Given the description of an element on the screen output the (x, y) to click on. 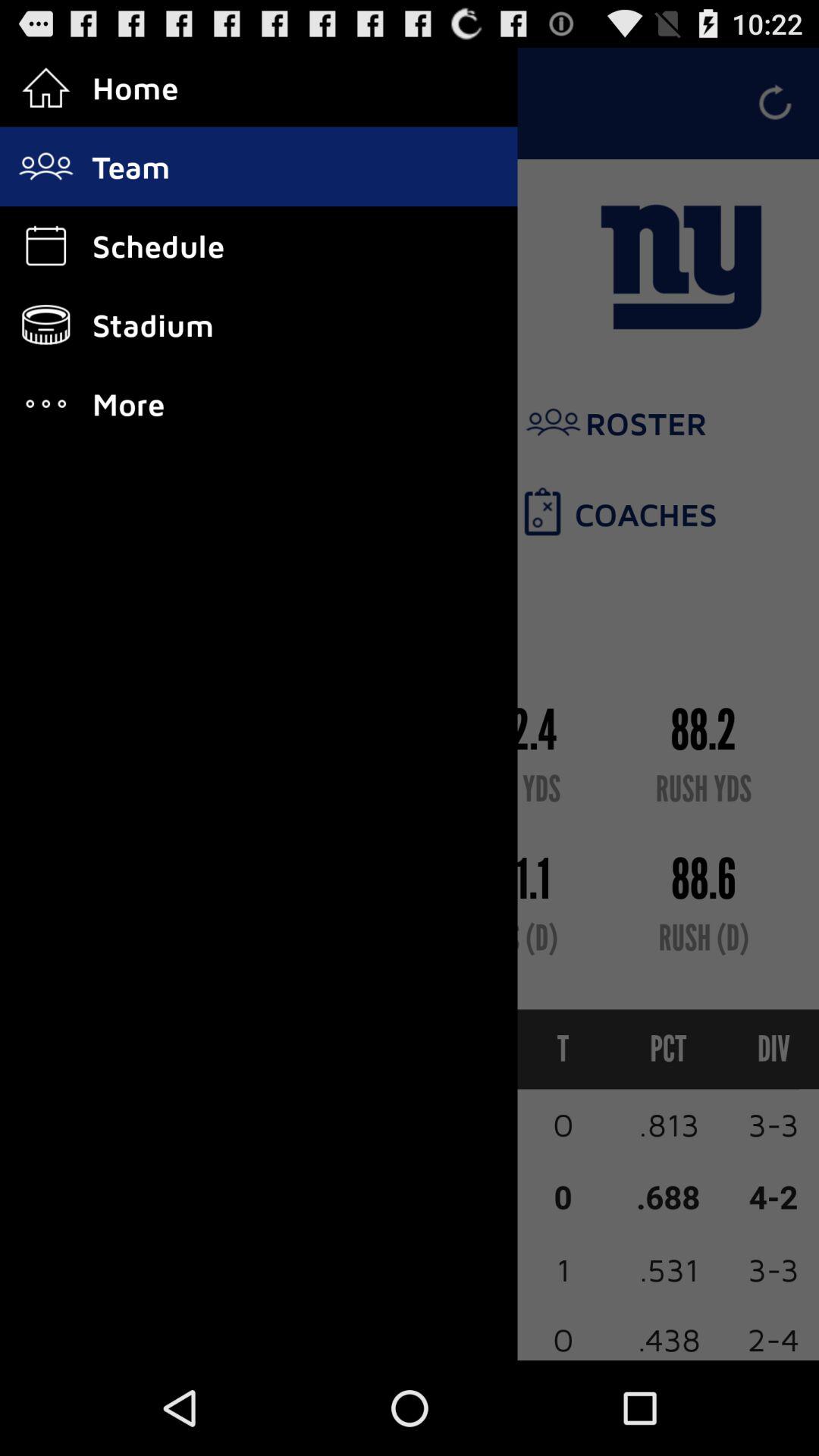
click on refresh icon which is at the top right (775, 103)
